Given the description of an element on the screen output the (x, y) to click on. 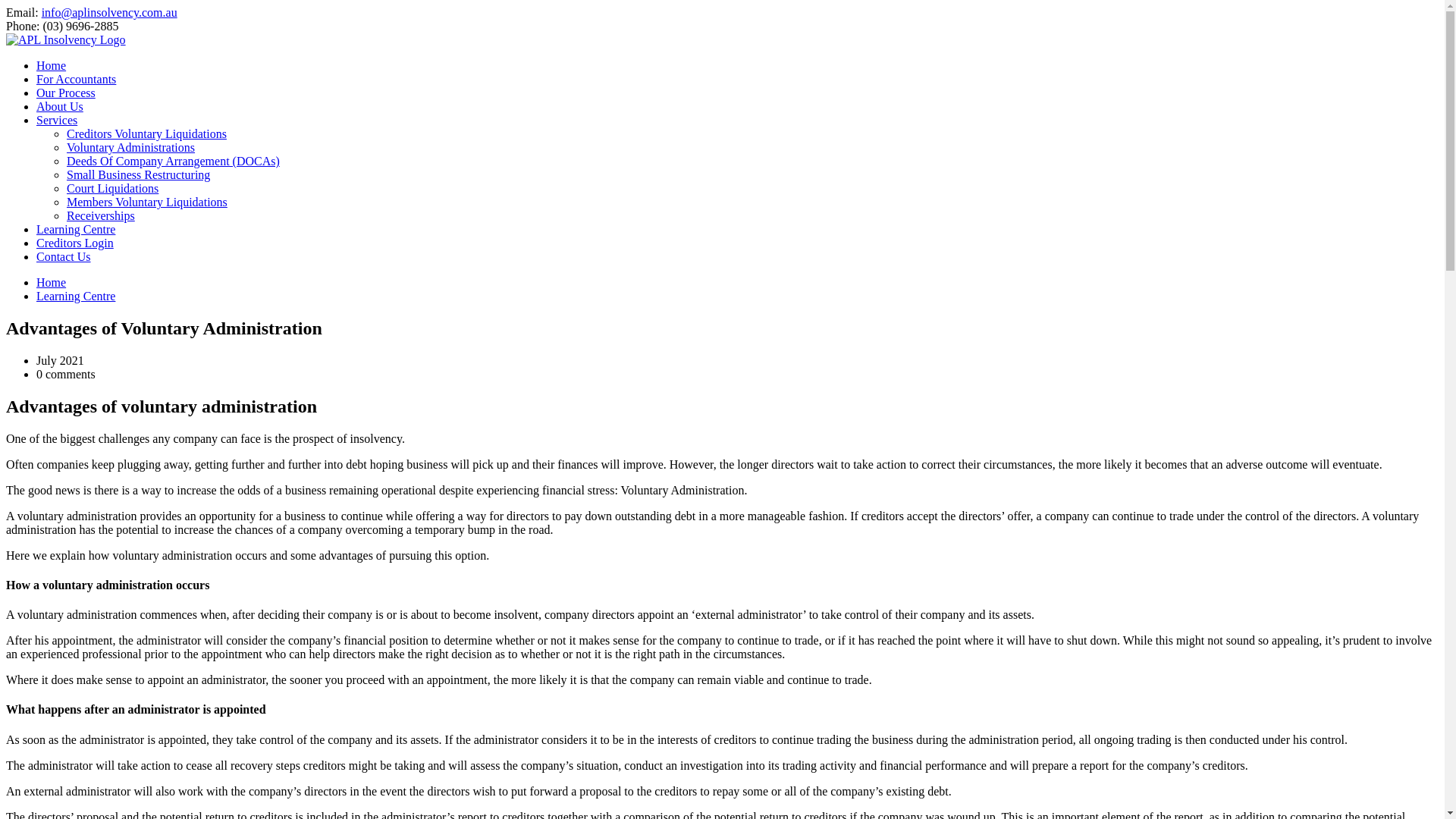
Creditors Voluntary Liquidations (146, 133)
Our Process (66, 92)
Contact Us (63, 256)
Home (50, 65)
Services (56, 119)
Members Voluntary Liquidations (146, 201)
For Accountants (76, 78)
Home (50, 282)
Learning Centre (75, 228)
Creditors Login (74, 242)
Voluntary Administrations (130, 146)
Court Liquidations (112, 187)
Receiverships (100, 215)
About Us (59, 106)
Small Business Restructuring (137, 174)
